Given the description of an element on the screen output the (x, y) to click on. 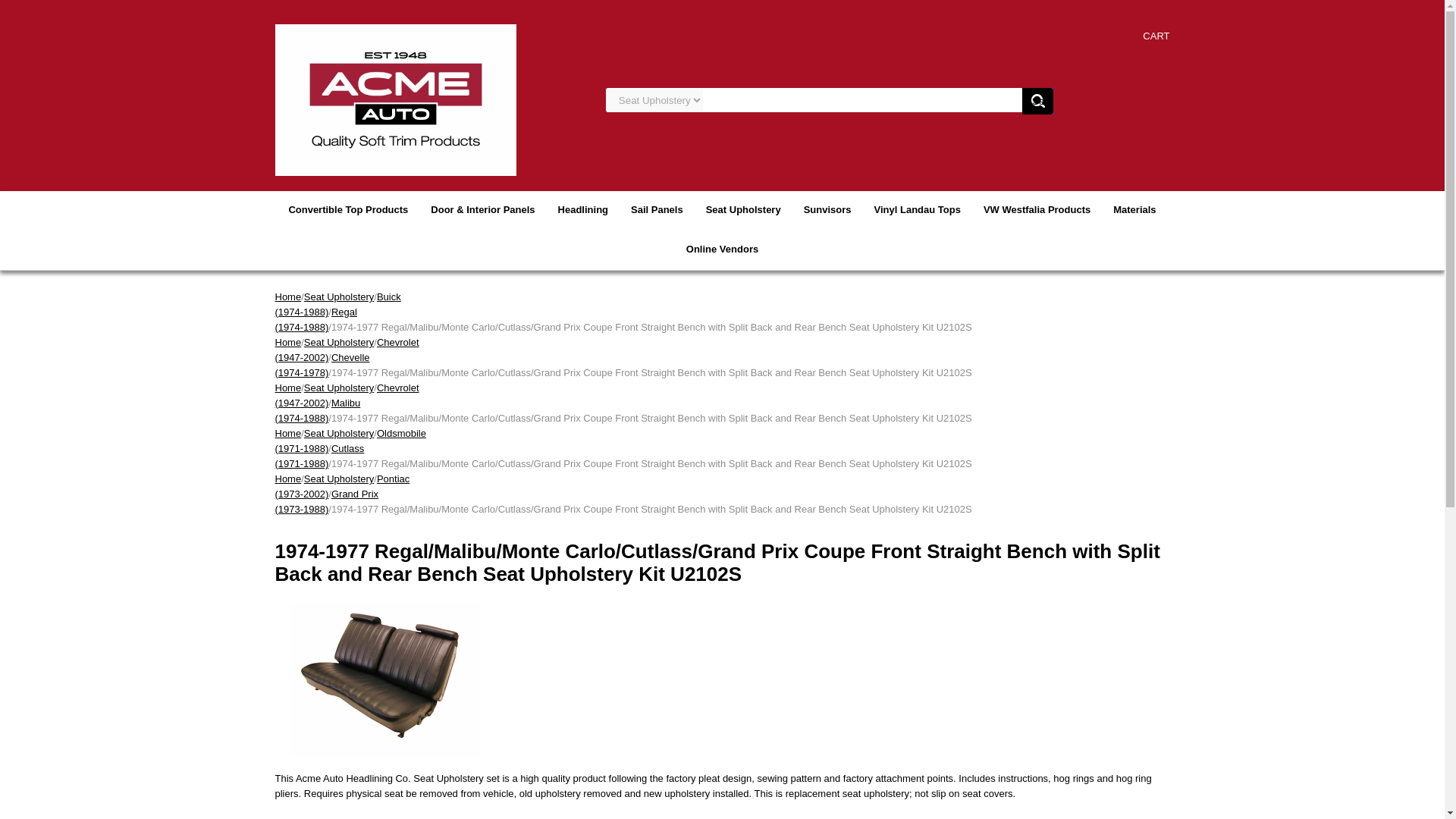
Search (1037, 100)
Headlining (583, 209)
Sail Panels (657, 209)
CART (1155, 35)
Seat Upholstery (743, 209)
Search (1037, 100)
acmeautoheadlining.com (395, 98)
Convertible Top Products (347, 209)
